Given the description of an element on the screen output the (x, y) to click on. 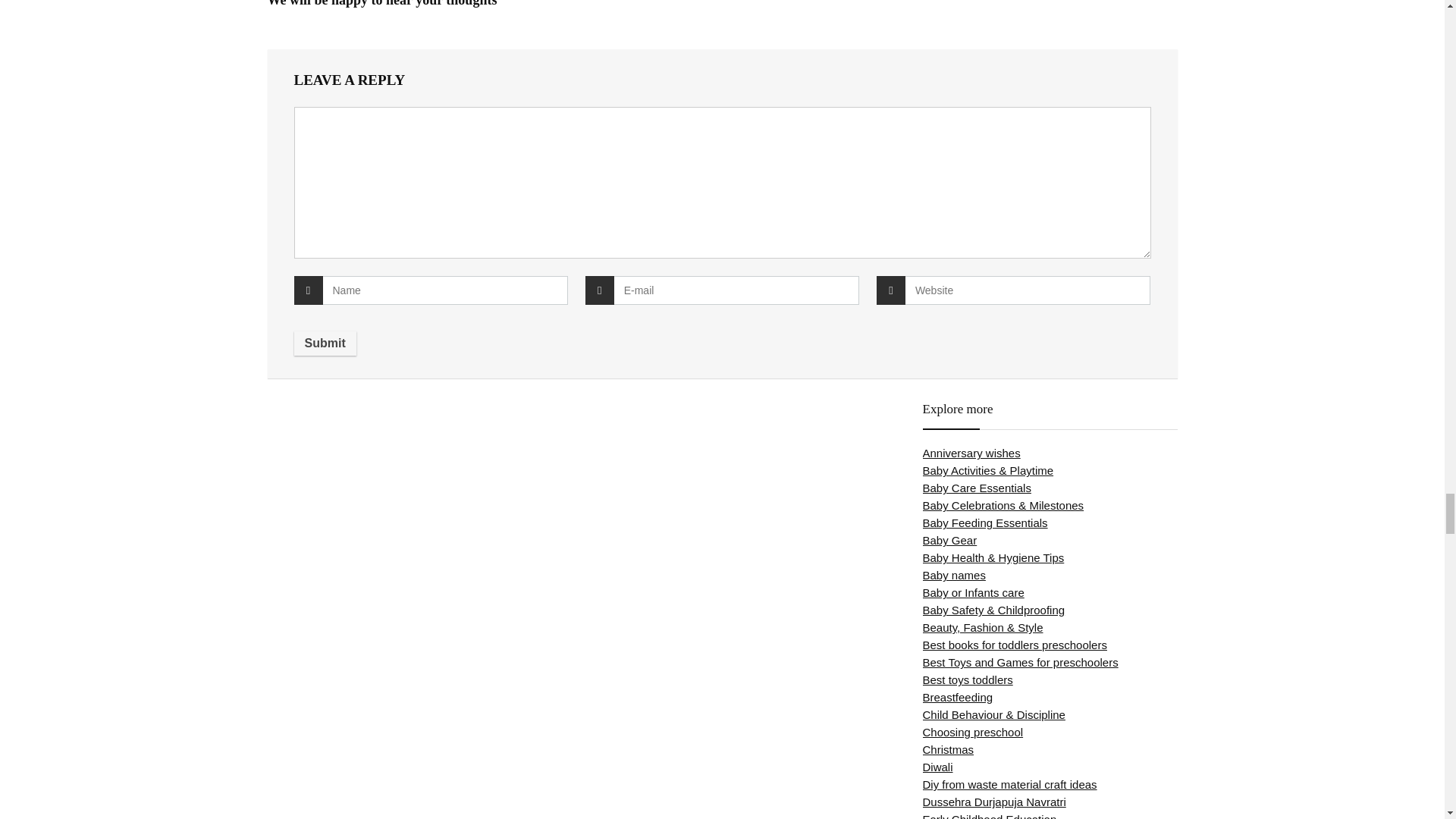
Submit (325, 343)
